Given the description of an element on the screen output the (x, y) to click on. 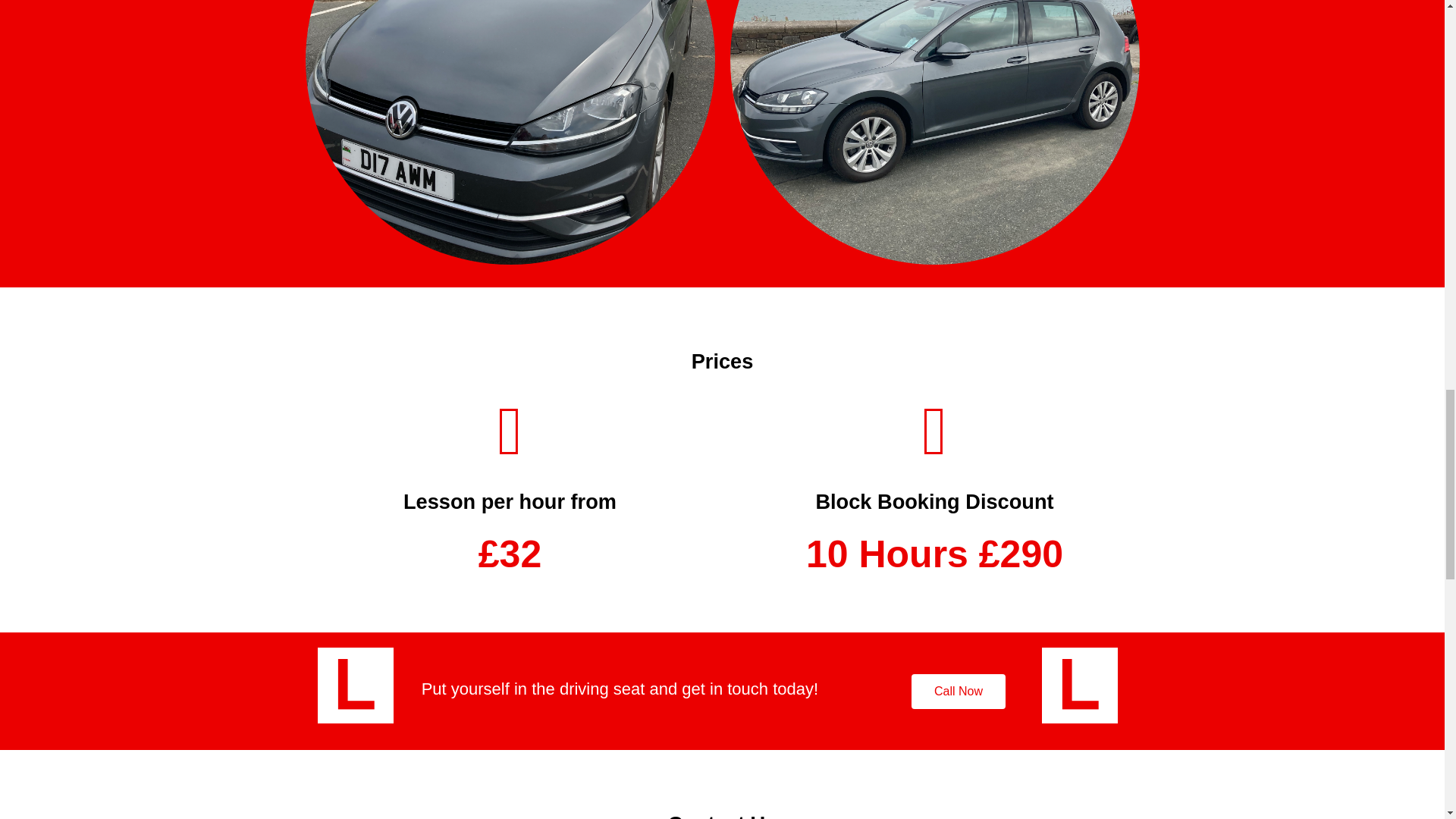
L (1080, 685)
L (355, 685)
Call Now (958, 691)
